Given the description of an element on the screen output the (x, y) to click on. 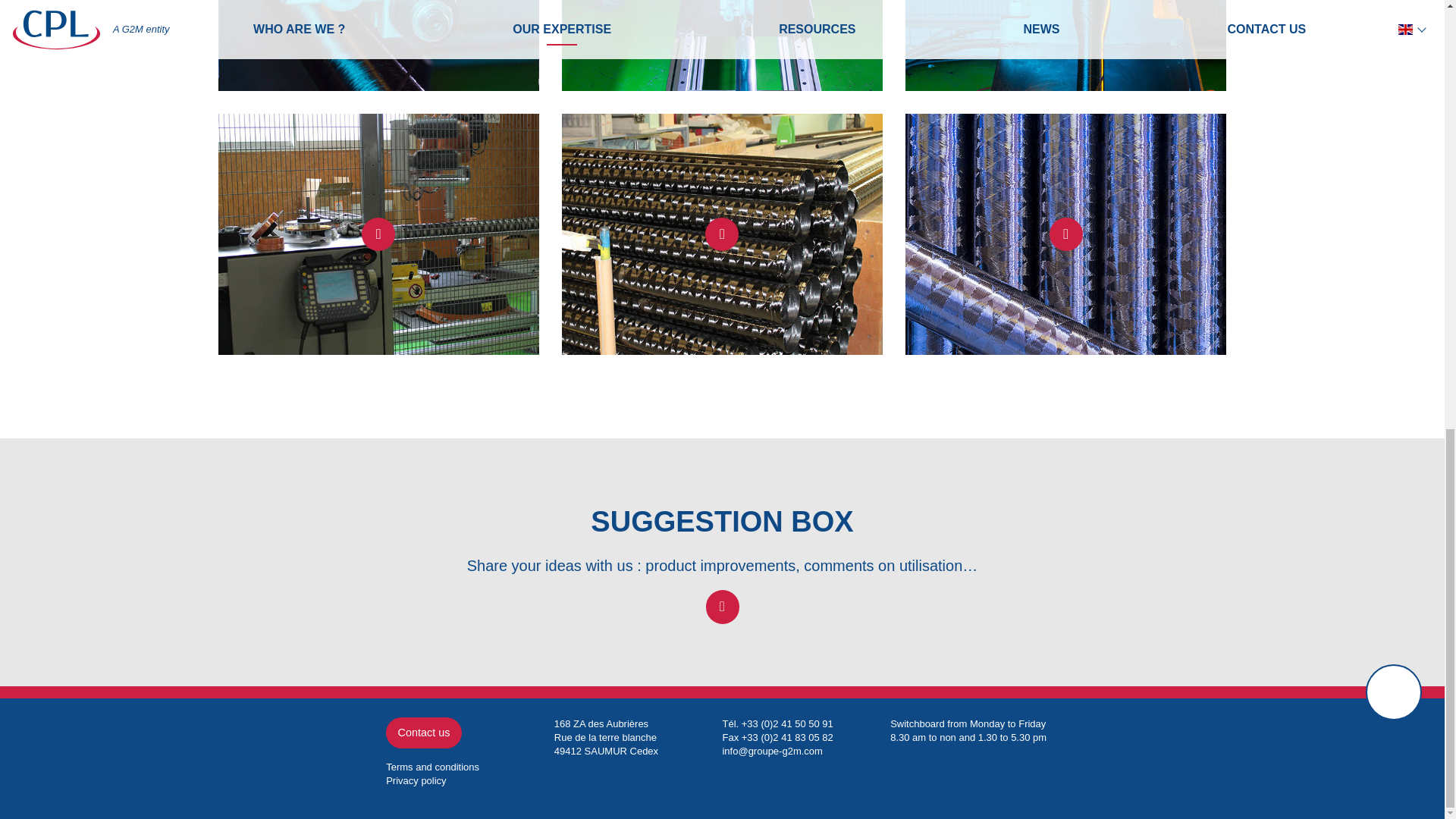
enroulement-filamentaire-3 (1065, 45)
enroulement-filamentaire-2 (722, 45)
tubes-carbones (1065, 233)
stock-tubes-carbones (722, 233)
salle-enroulement-filamentaire (378, 233)
enroulement-filamentaire-1 (378, 45)
Propose an idea (721, 606)
